Given the description of an element on the screen output the (x, y) to click on. 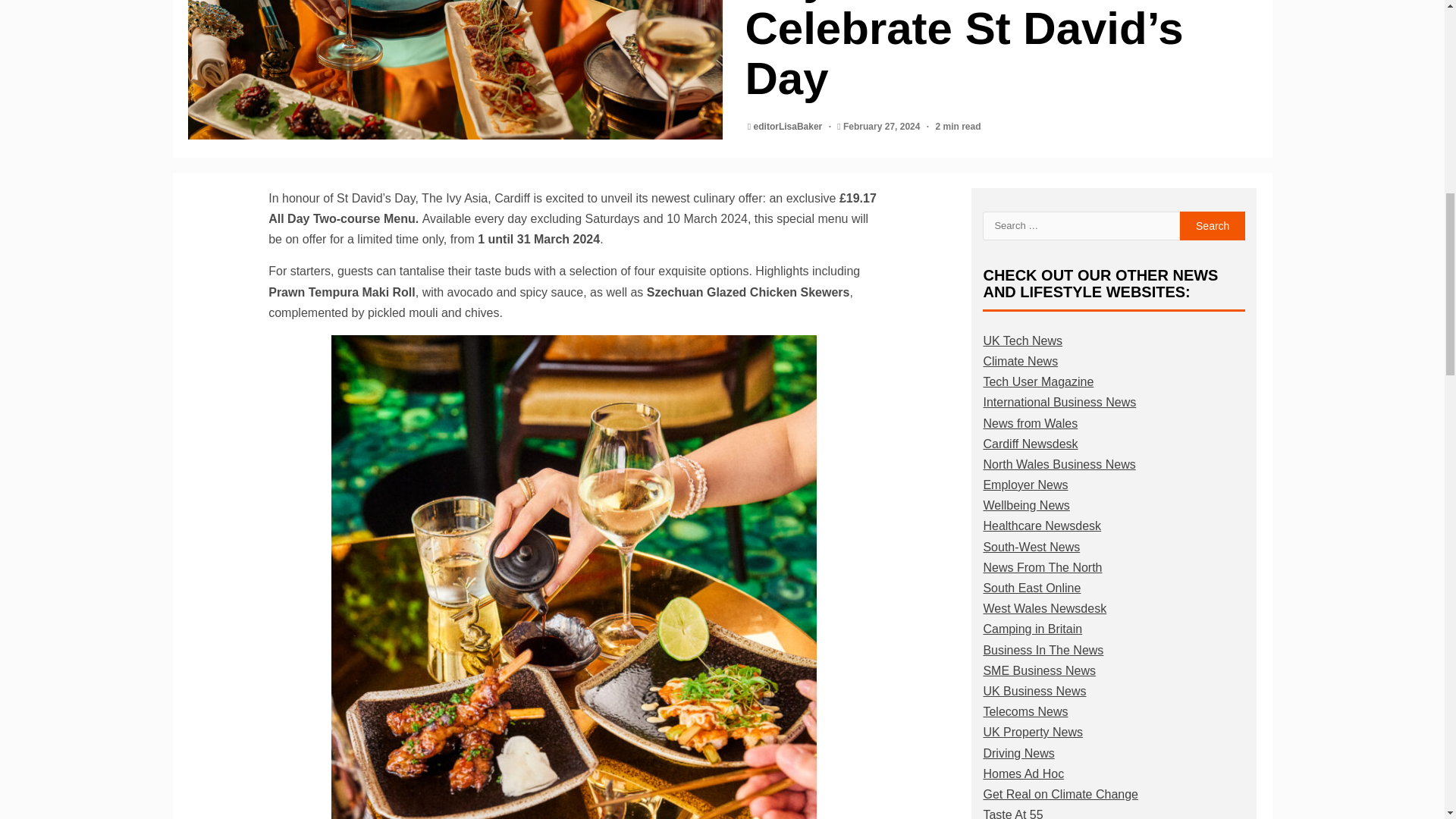
Search (1212, 225)
Search (1212, 225)
editorLisaBaker (789, 126)
